Given the description of an element on the screen output the (x, y) to click on. 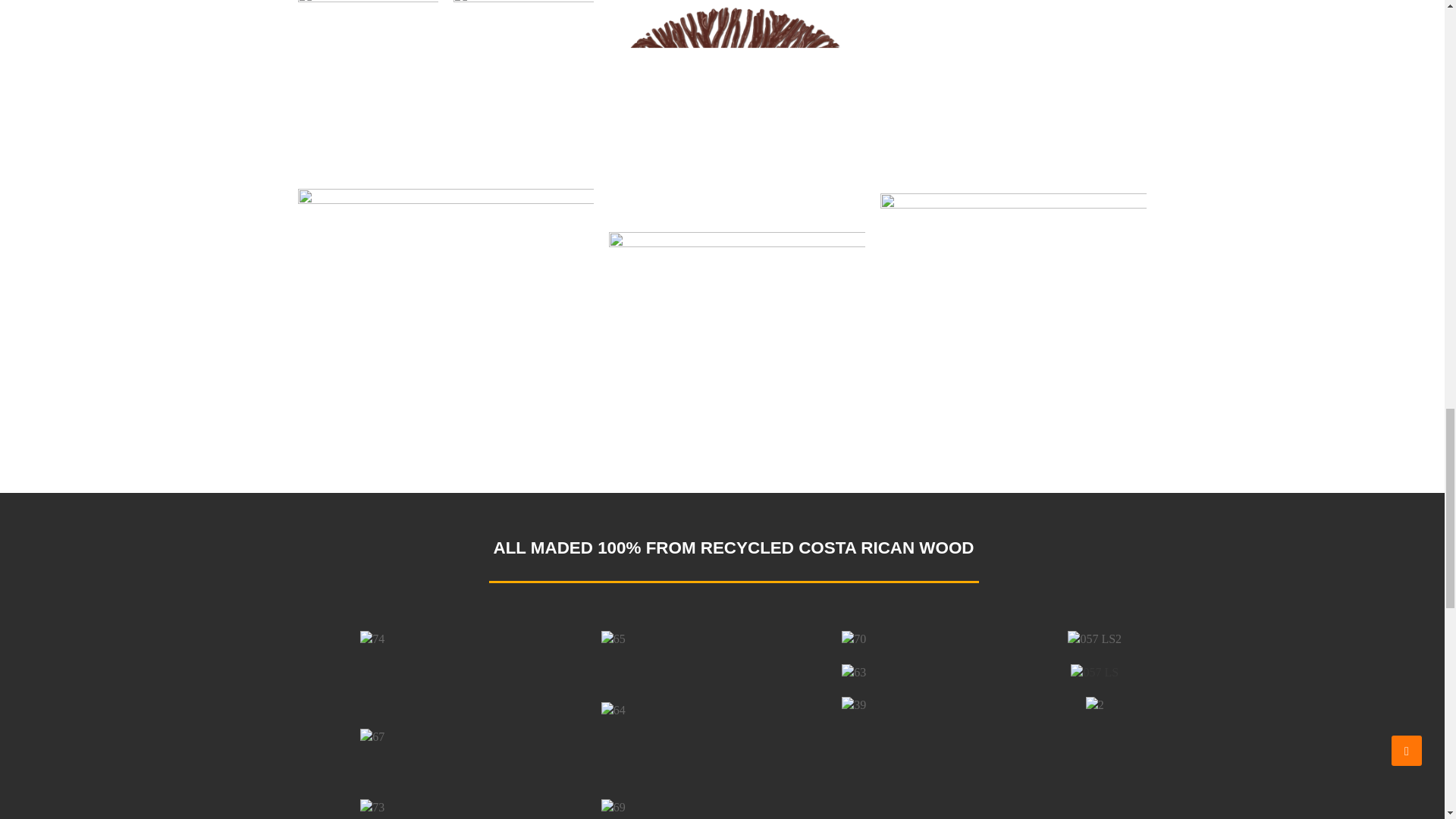
67 (371, 736)
39 (853, 704)
64 (613, 710)
057 LS (1094, 672)
73 (371, 807)
63 (853, 672)
2 (1094, 704)
057 LS2 (1094, 638)
70 (853, 638)
69 (613, 807)
